Given the description of an element on the screen output the (x, y) to click on. 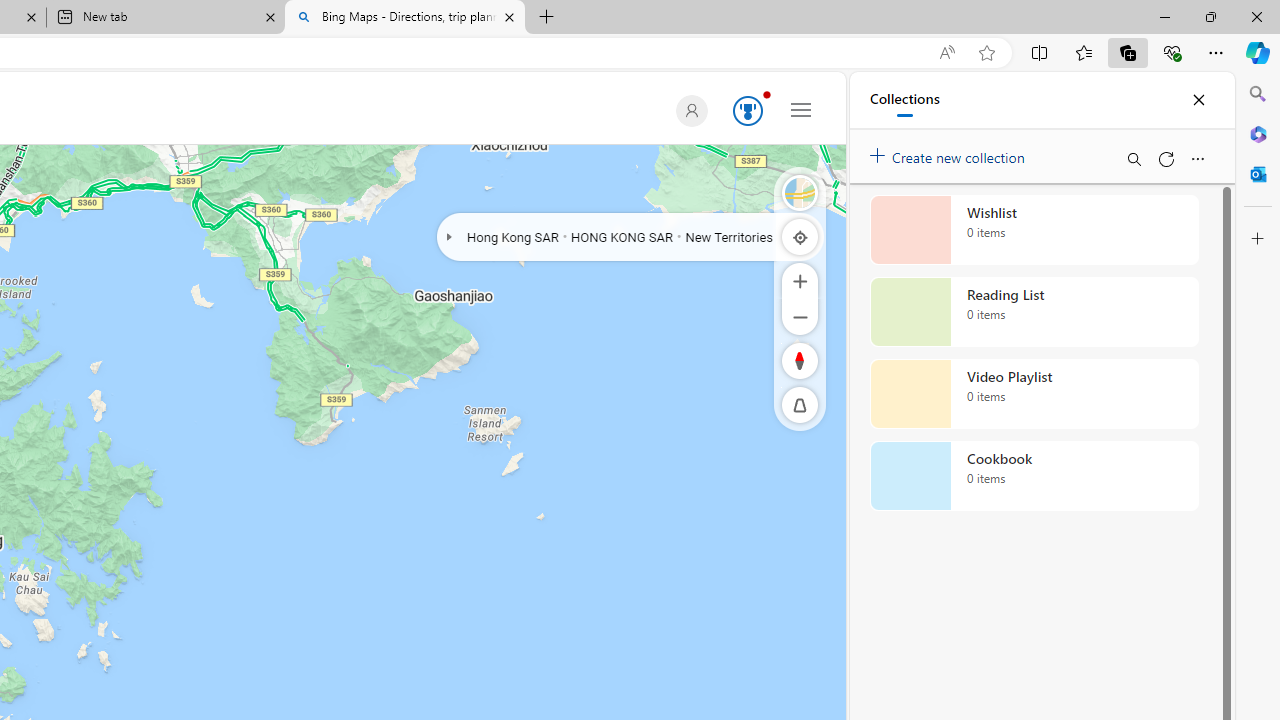
Reset to Default Pitch (799, 405)
Streetside (799, 192)
Create new collection (950, 153)
Reading List collection, 0 items (1034, 312)
Locate me (799, 236)
AutomationID: rh_meter (748, 110)
Rotate Right (780, 360)
AutomationID: serp_medal_svg (748, 110)
Satellite (799, 192)
